Given the description of an element on the screen output the (x, y) to click on. 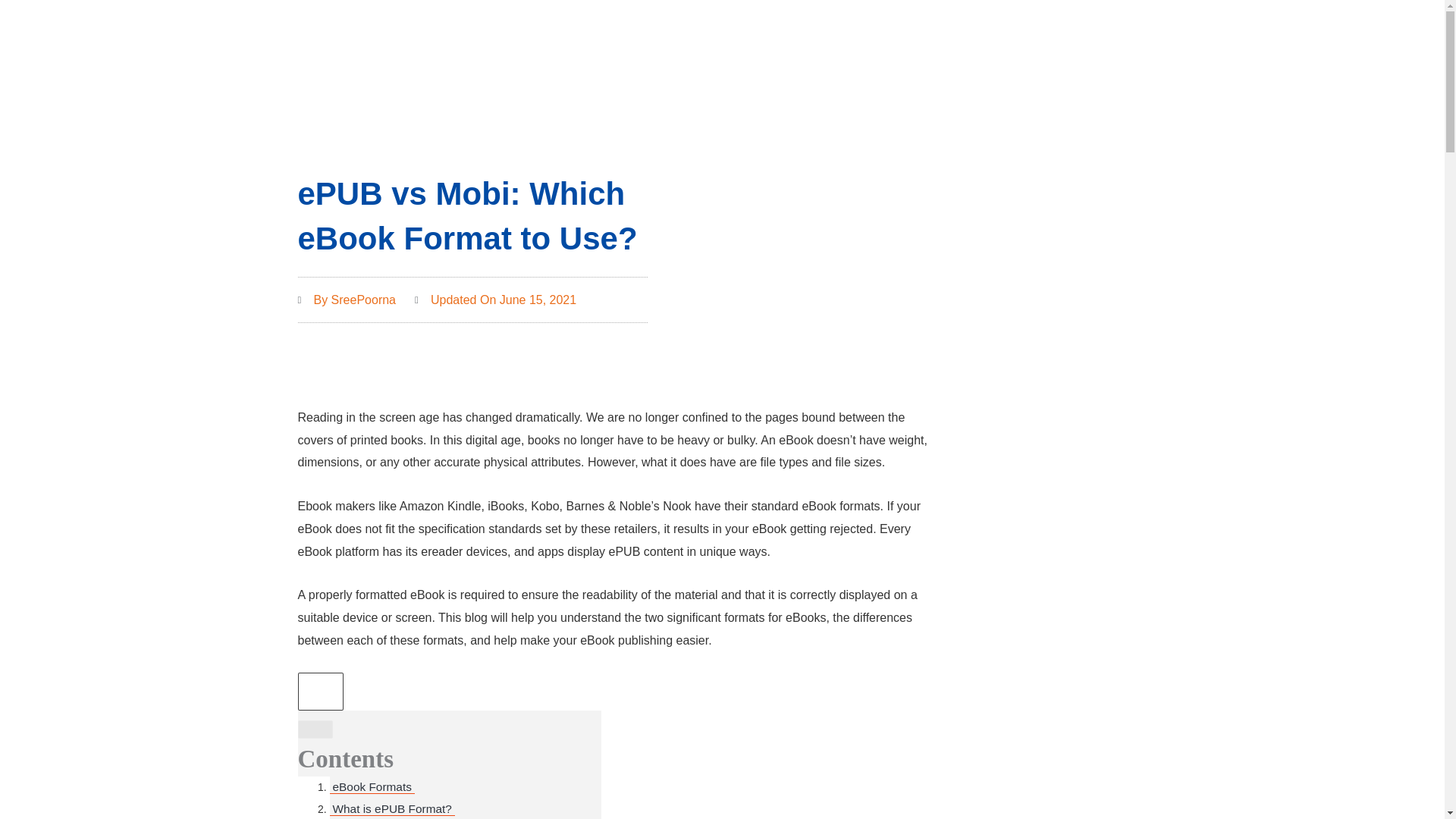
click To Maximize The Table Of Contents (319, 691)
By SreePoorna (346, 300)
What is ePUB Format? (391, 809)
eBook Formats (371, 787)
